Given the description of an element on the screen output the (x, y) to click on. 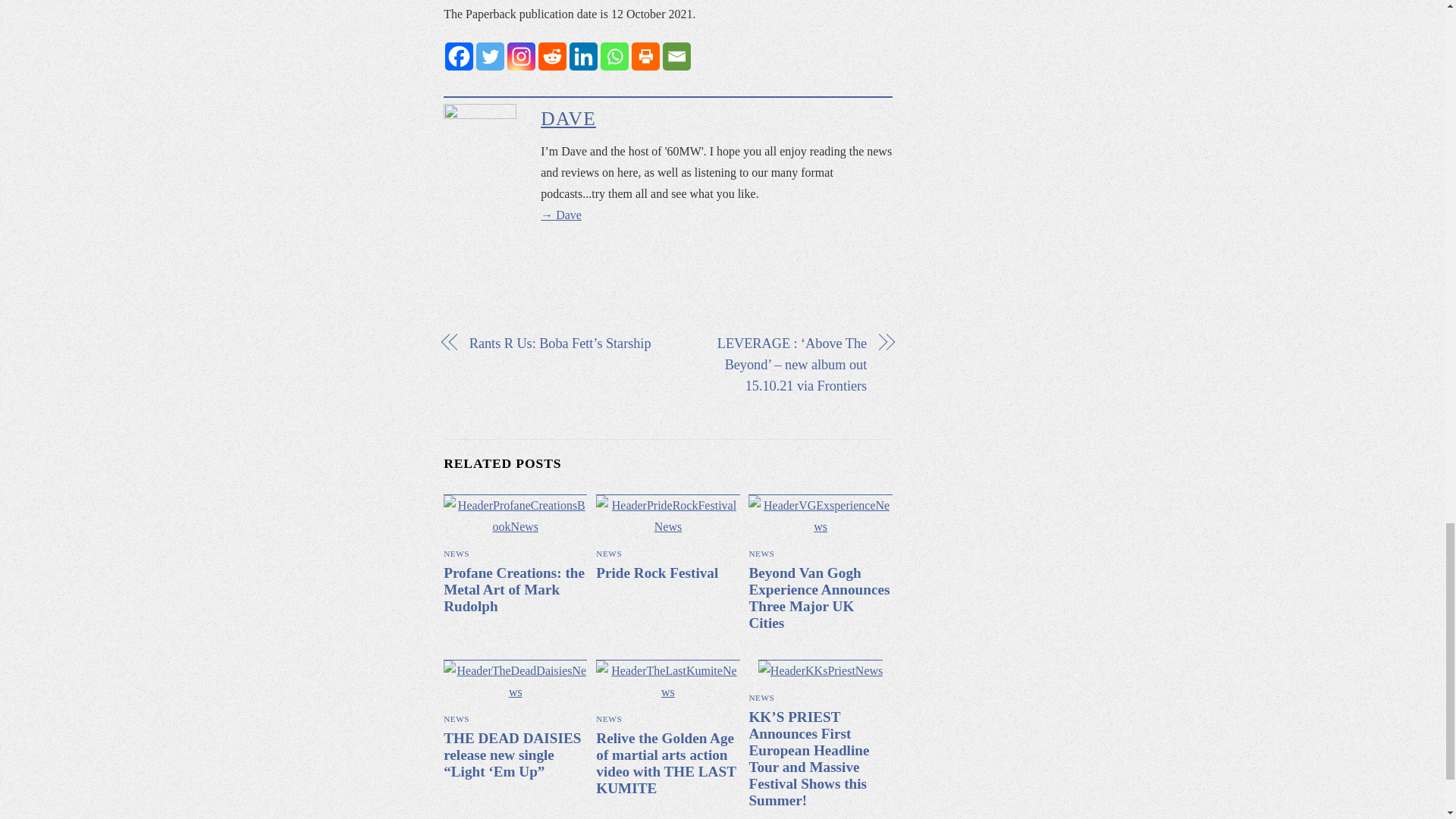
Instagram (520, 56)
Email (676, 56)
HeaderTheDeadDaisiesNews (515, 681)
Facebook (459, 56)
Twitter (489, 56)
HeaderProfaneCreationsBookNews (515, 515)
Reddit (552, 56)
HeaderPrideRockFestivalNews (667, 515)
Print (645, 56)
HeaderVGExsperienceNews (819, 515)
